Given the description of an element on the screen output the (x, y) to click on. 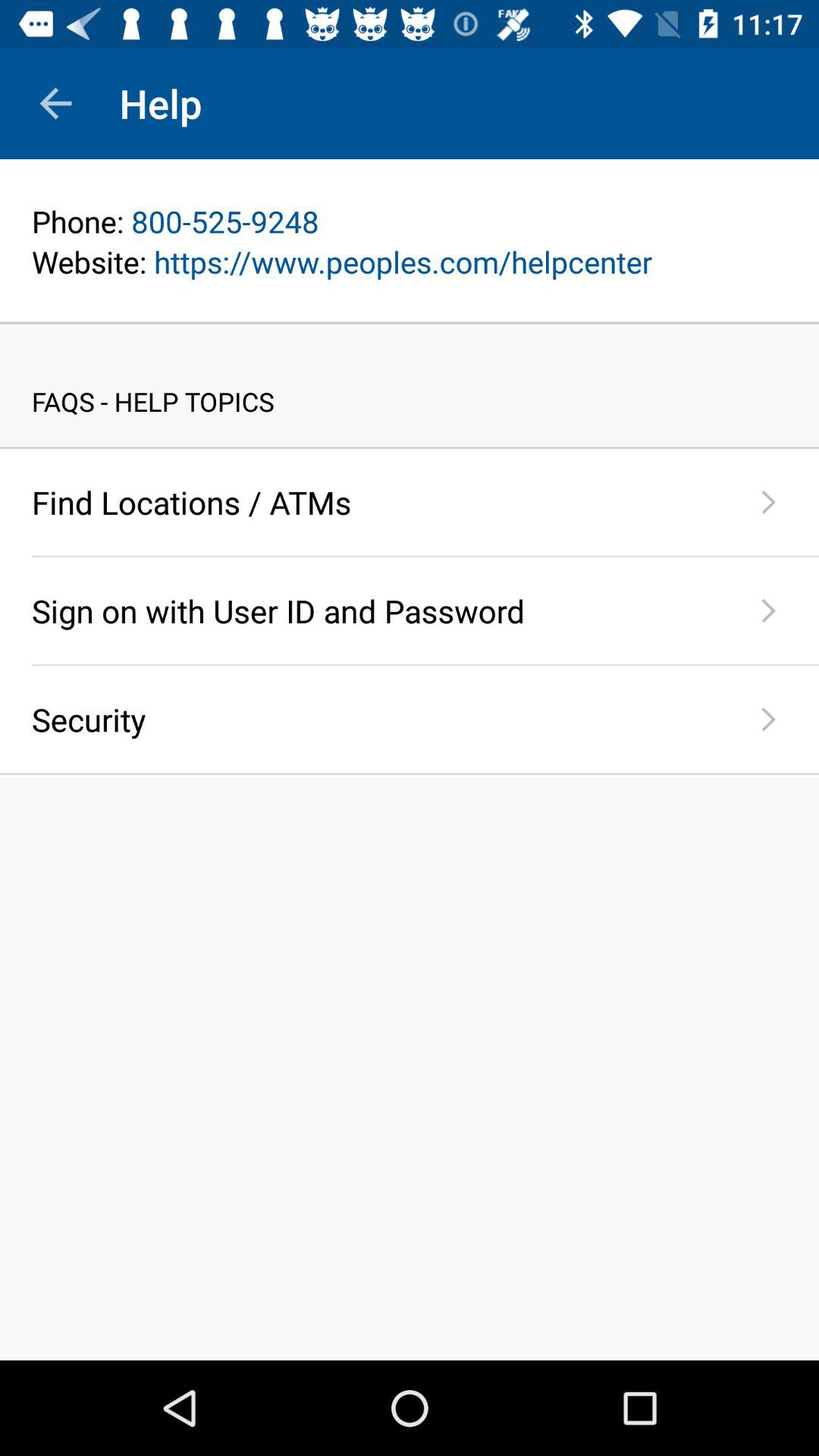
jump to the phone 800 525 icon (409, 221)
